Given the description of an element on the screen output the (x, y) to click on. 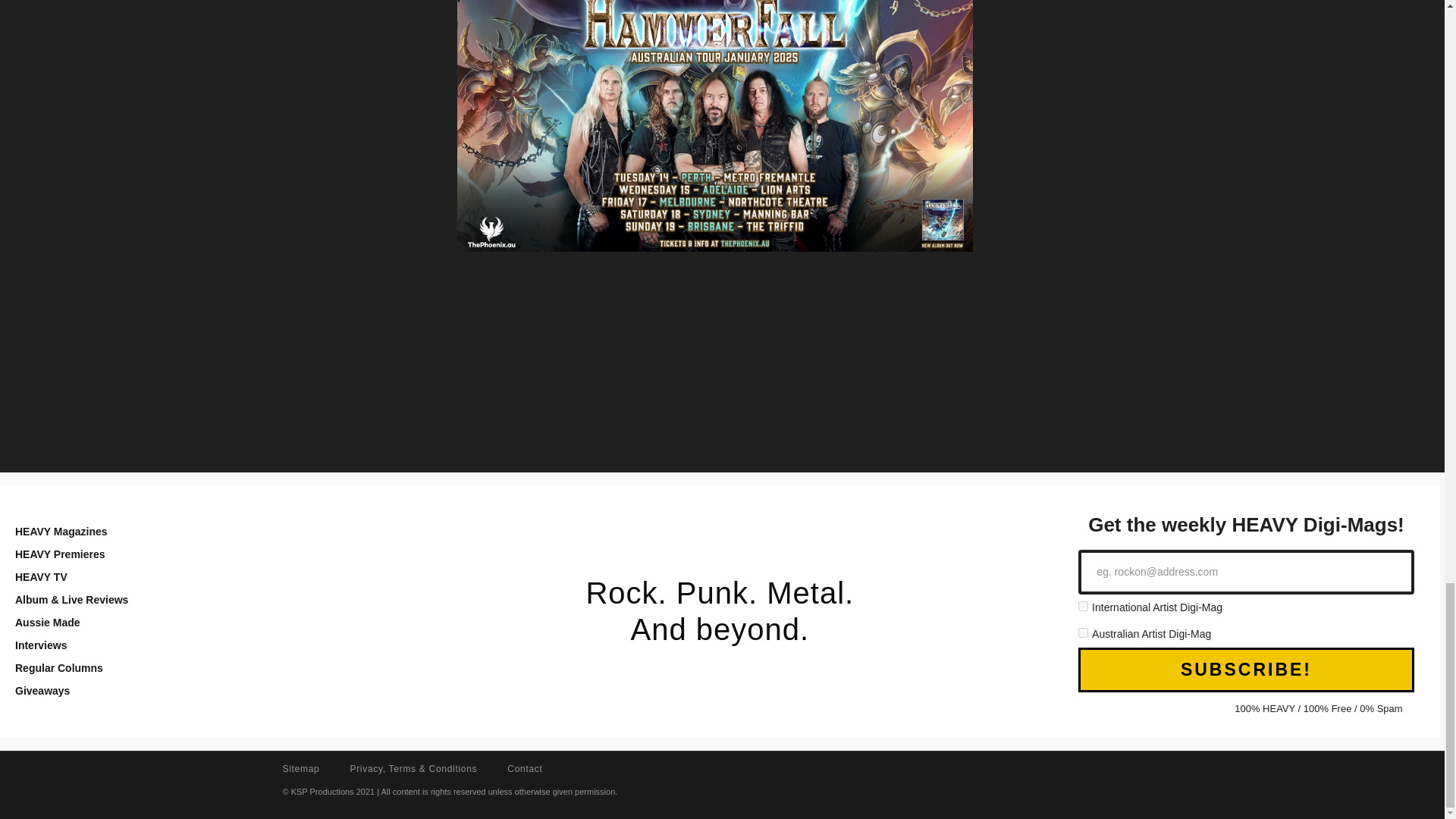
  Australian Artist Digi-Mag (1082, 633)
  International Artist Digi-Mag (1082, 605)
